Given the description of an element on the screen output the (x, y) to click on. 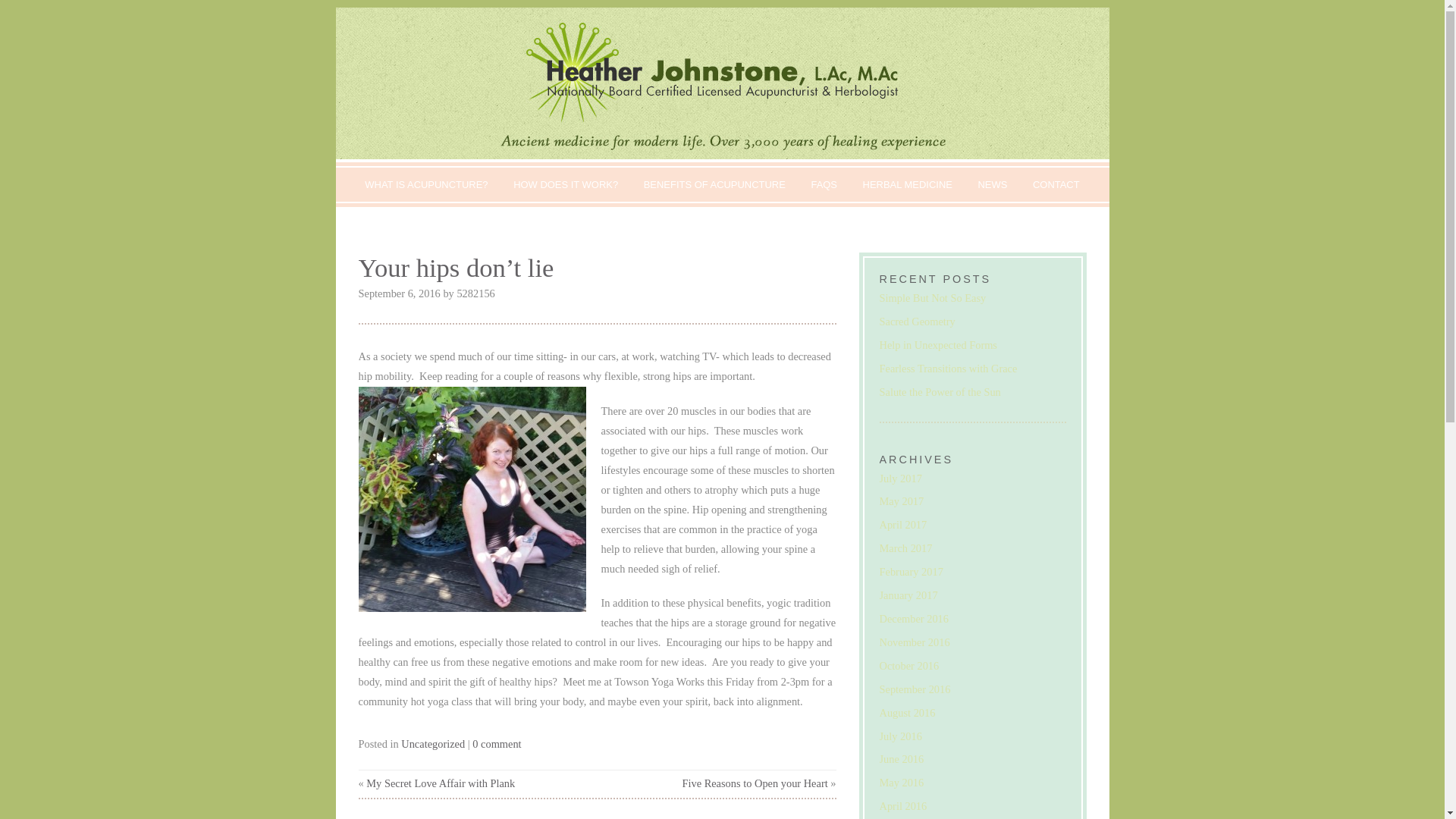
September 2016 (914, 689)
Five Reasons to Open your Heart (754, 783)
Heather Fulkoski-Johnstone, L.Ac, M.Ac (721, 82)
Salute the Power of the Sun (940, 391)
April 2017 (903, 524)
April 2016 (903, 806)
March 2017 (906, 548)
November 2016 (914, 642)
CONTACT (1056, 184)
July 2017 (900, 478)
February 2017 (911, 571)
June 2016 (901, 758)
July 2016 (900, 735)
October 2016 (909, 665)
BENEFITS OF ACUPUNCTURE (713, 184)
